Given the description of an element on the screen output the (x, y) to click on. 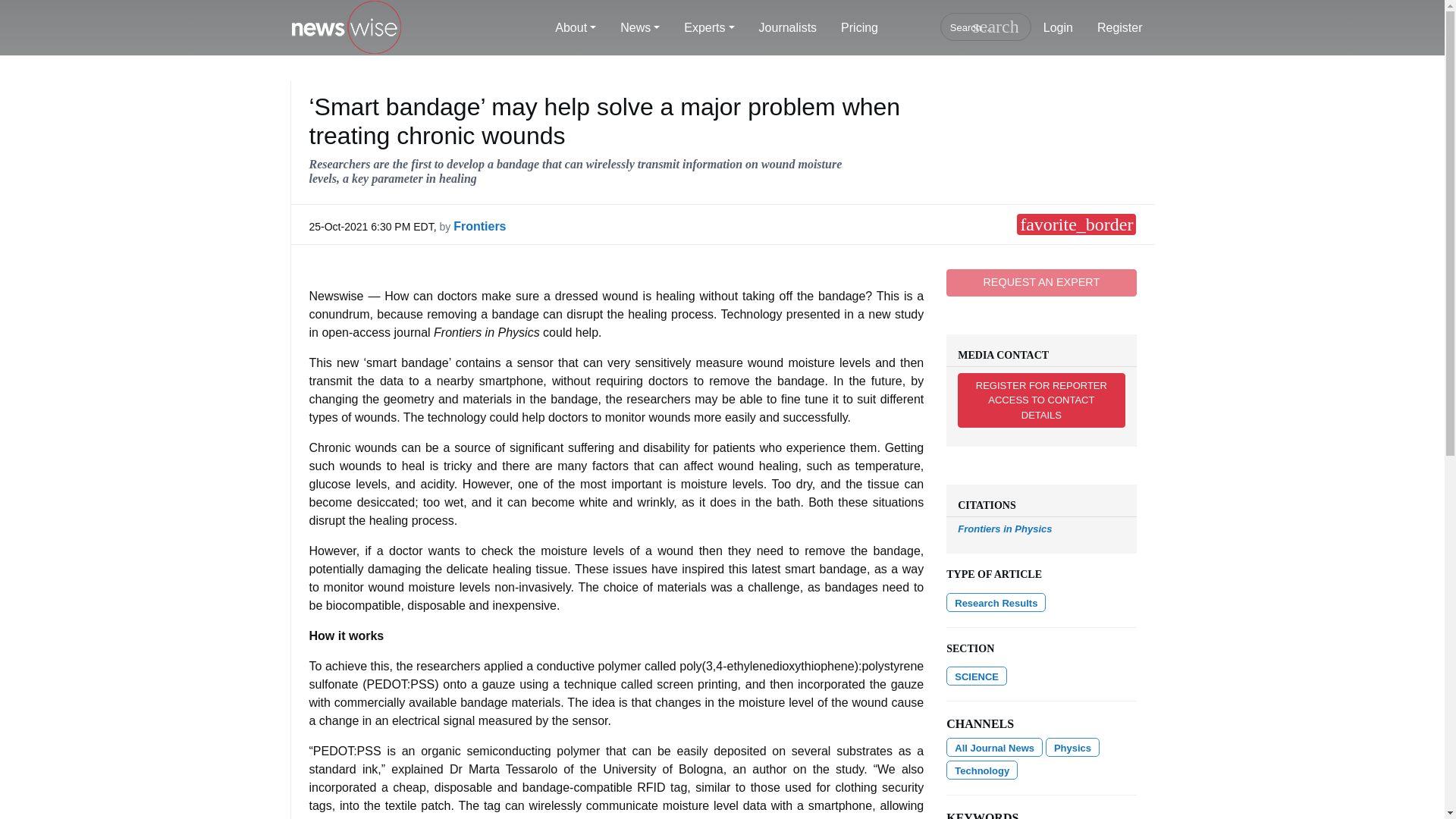
About (575, 27)
Show all articles in this channel (994, 746)
Show all articles in this channel (981, 769)
Show all articles in this channel (976, 675)
Add to Favorites (1075, 224)
Research Results (995, 601)
Newswise logo (345, 28)
Show all articles in this channel (1072, 746)
News (639, 27)
